Given the description of an element on the screen output the (x, y) to click on. 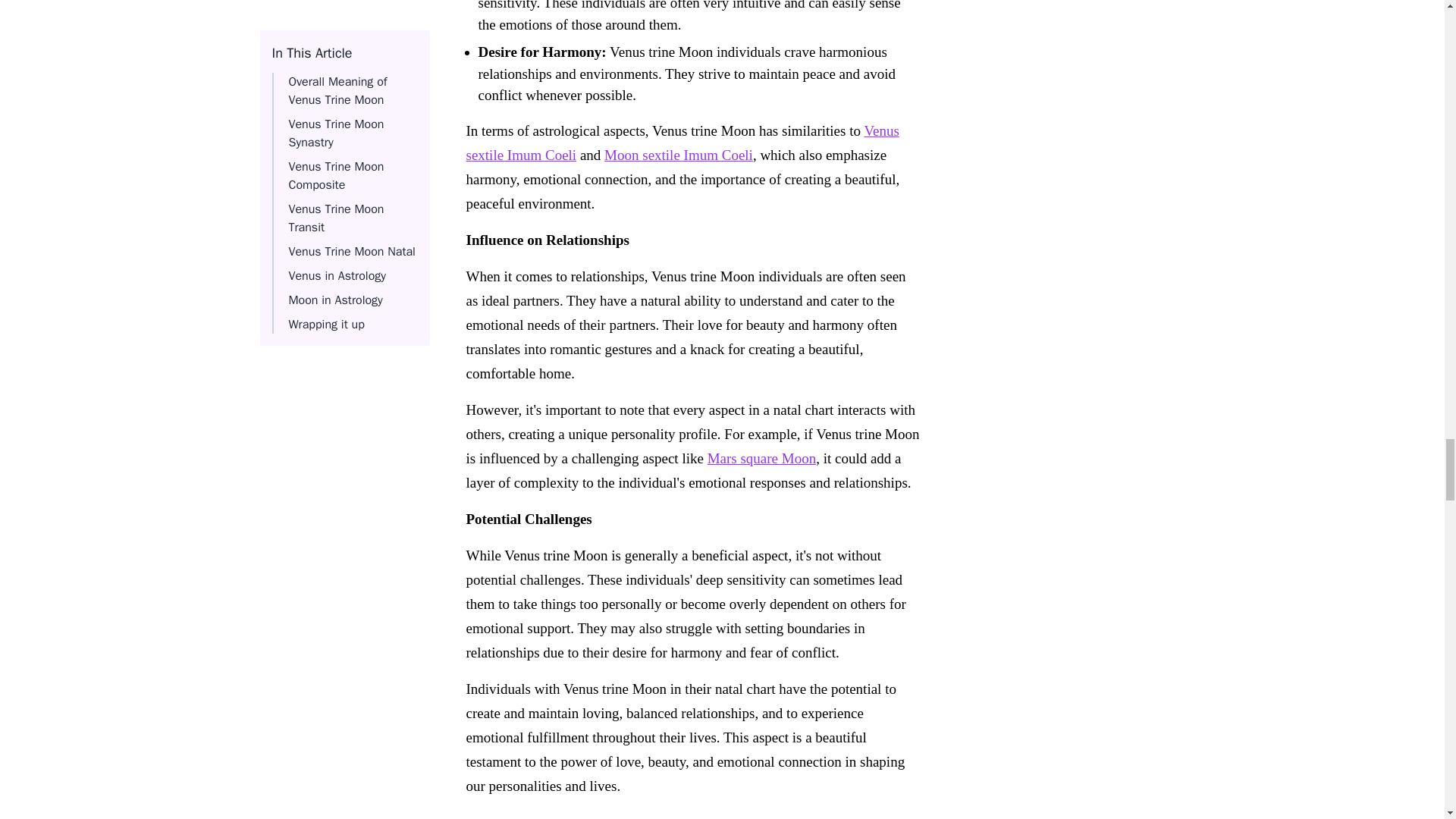
Mars square Moon (761, 458)
Venus sextile Imum Coeli (681, 142)
Moon sextile Imum Coeli (678, 154)
